Given the description of an element on the screen output the (x, y) to click on. 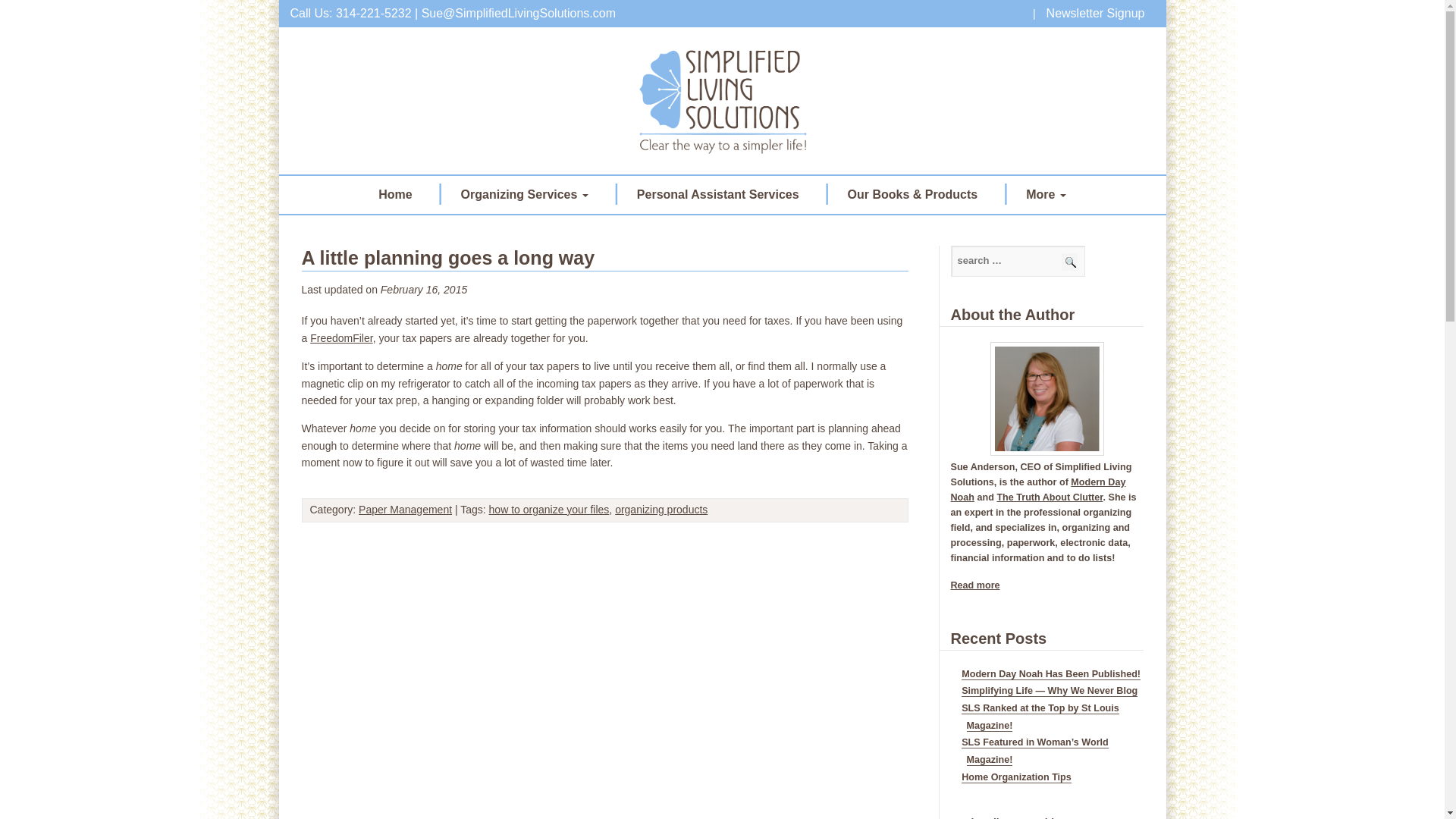
The Truth About Clutter (1048, 497)
Search (1069, 262)
Read more (975, 584)
organizing products (660, 509)
More (1045, 194)
Organizing Services (524, 194)
Home (394, 194)
Home (394, 194)
Simplified Living Solutions (722, 100)
Modern Day Noah Has Been Published! (1050, 674)
Modern Day Noah (1037, 489)
Newsletter Signup (1096, 13)
Home Organization Tips (1015, 777)
Subscribe to our blog (1012, 817)
More (1045, 194)
